Given the description of an element on the screen output the (x, y) to click on. 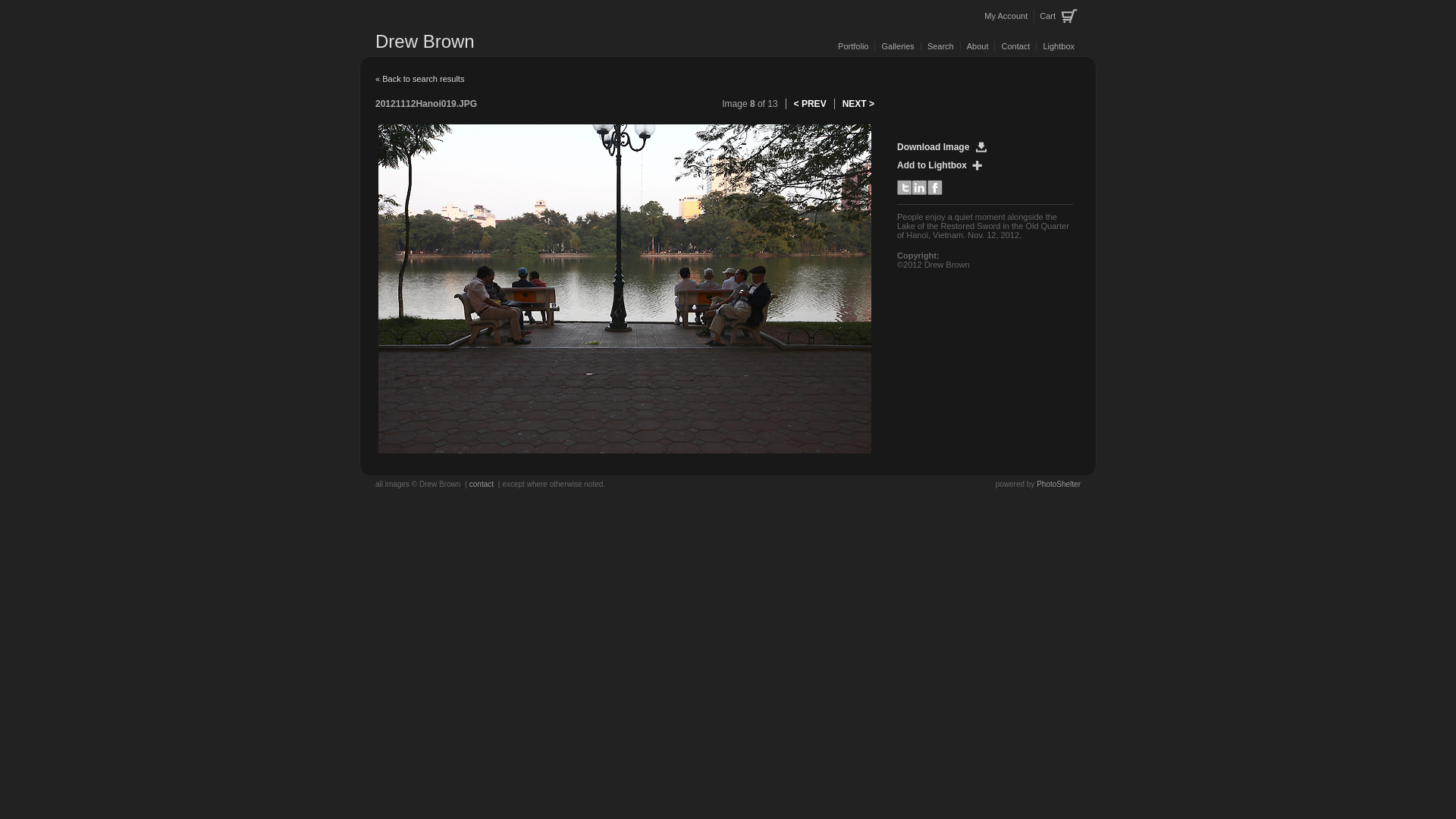
Galleries (897, 45)
Drew Brown (424, 41)
Search (940, 45)
Cart (1058, 17)
Cart (1058, 17)
Download Image (945, 147)
Add to Lightbox (943, 165)
My Account (1005, 15)
About (977, 45)
My Account (1005, 15)
